Given the description of an element on the screen output the (x, y) to click on. 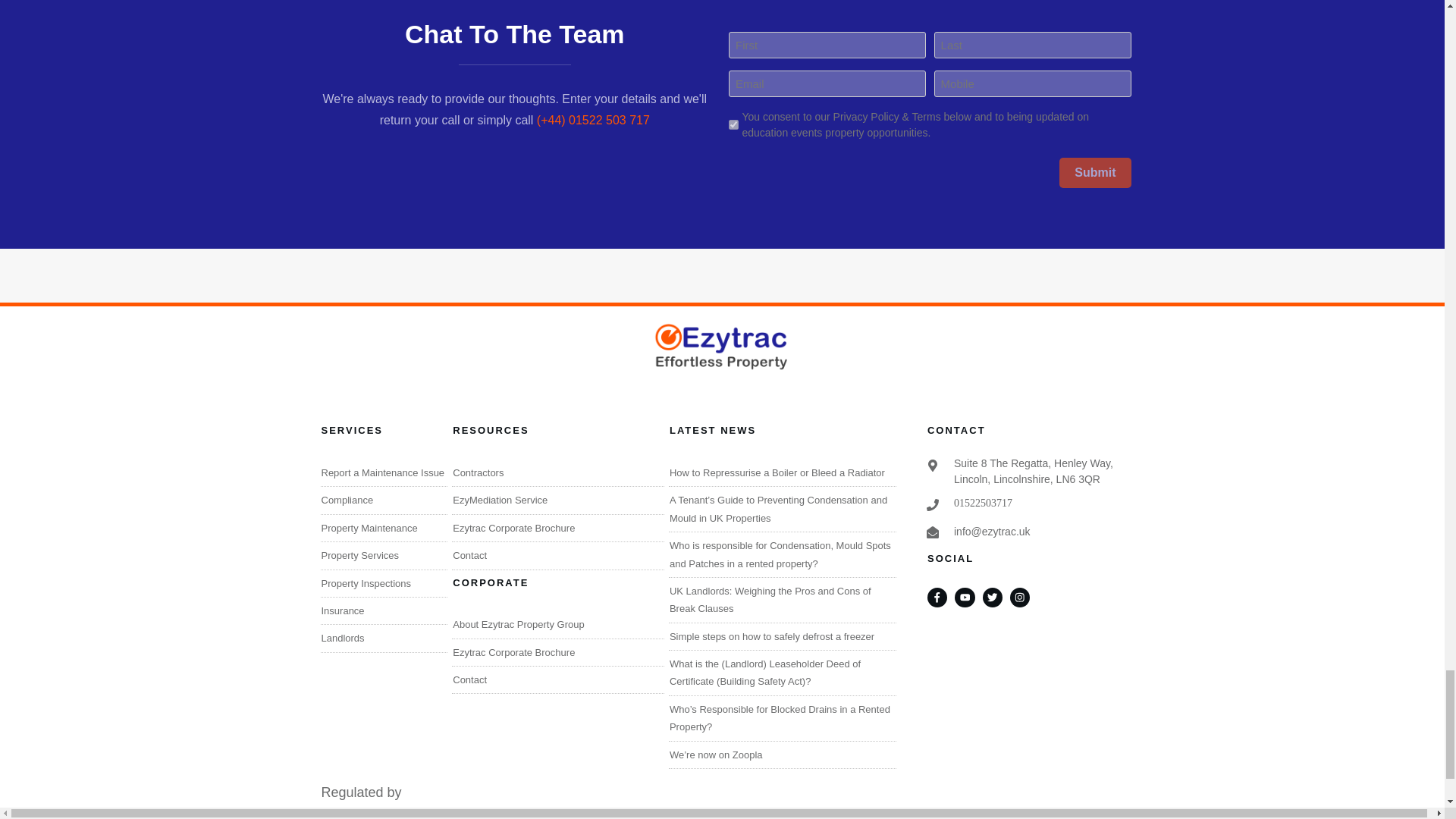
Compliance (347, 500)
Submit (1095, 173)
Landlords (343, 637)
Property Services (359, 555)
EzyMediation Service (499, 500)
Contractors (477, 472)
Report a Maintenance Issue (383, 472)
Property Inspections (366, 583)
Insurance (343, 610)
Property Maintenance (369, 527)
